Given the description of an element on the screen output the (x, y) to click on. 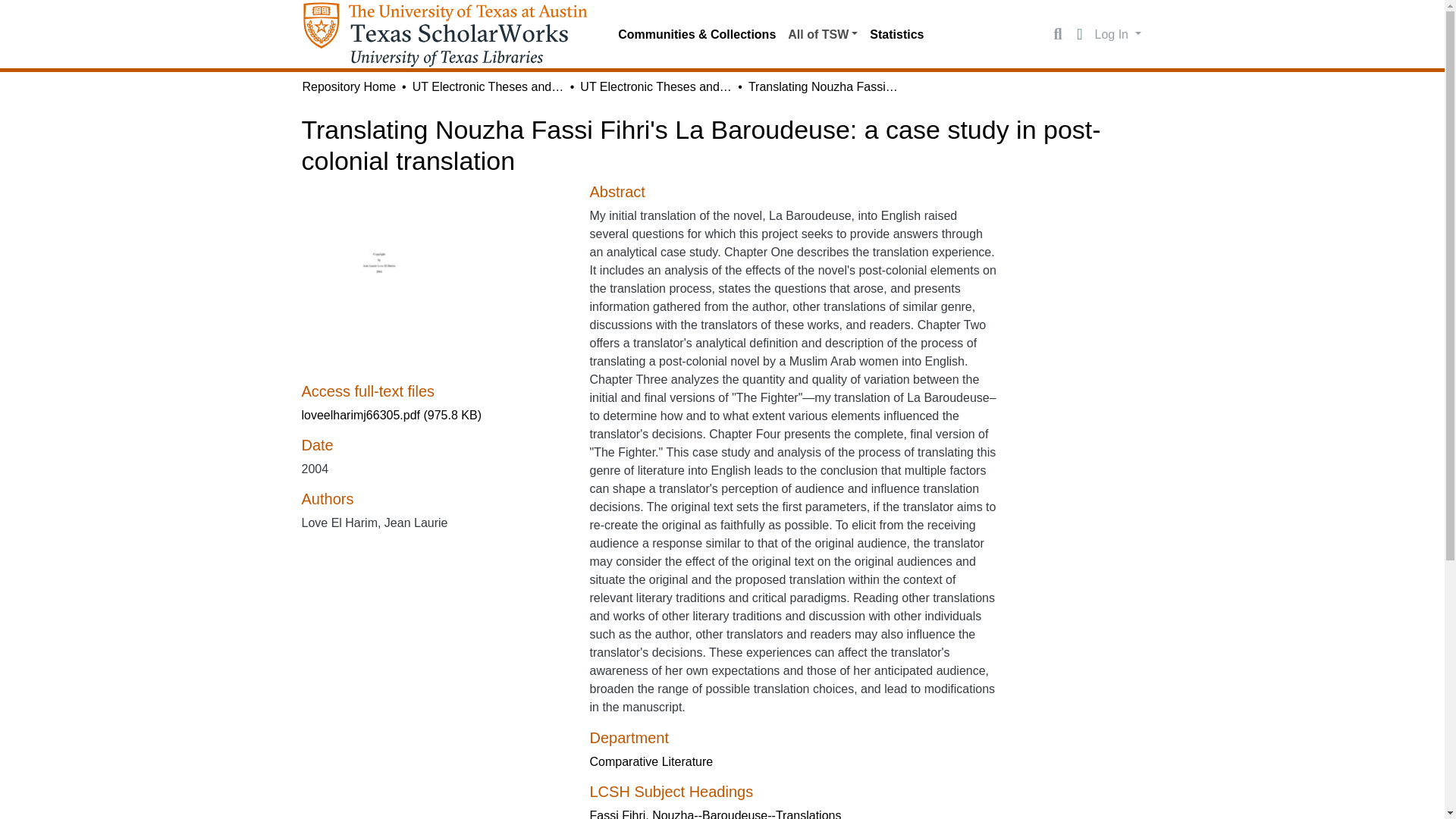
Statistics (896, 34)
Repository Home (348, 86)
Comparative Literature (651, 761)
Language switch (1079, 34)
UT Electronic Theses and Dissertations (655, 86)
Statistics (896, 34)
Search (1057, 34)
UT Electronic Theses and Dissertations (488, 86)
Log In (1117, 33)
All of TSW (822, 34)
Fassi Fihri, Nouzha--Baroudeuse--Translations (715, 814)
